Given the description of an element on the screen output the (x, y) to click on. 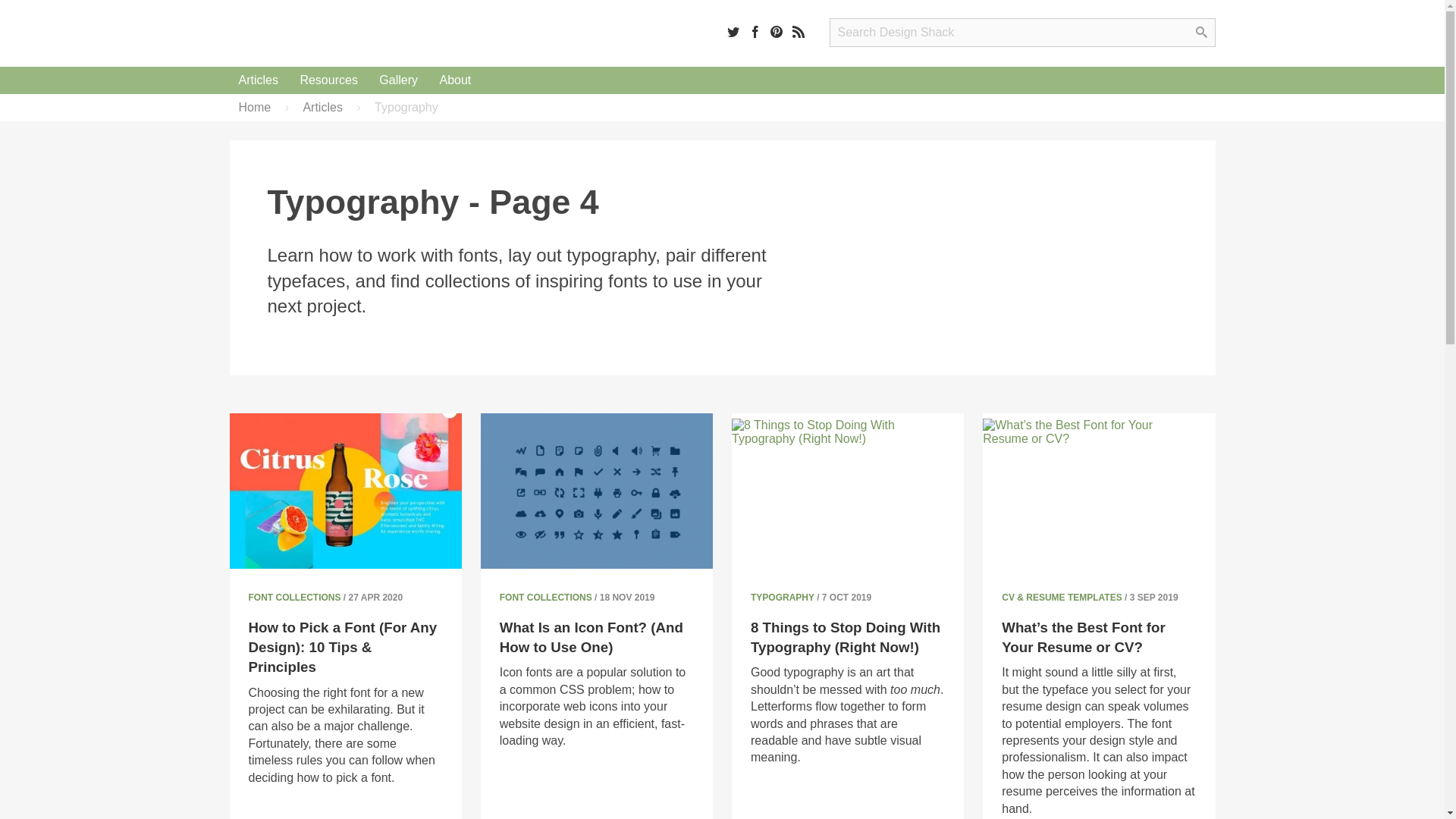
Search Design Shack (1022, 32)
Articles (257, 80)
Facebook (755, 31)
RSS Feed (797, 31)
Pinterest (776, 31)
Design Shack (326, 34)
Articles (257, 80)
Search Design Shack (1022, 32)
